Given the description of an element on the screen output the (x, y) to click on. 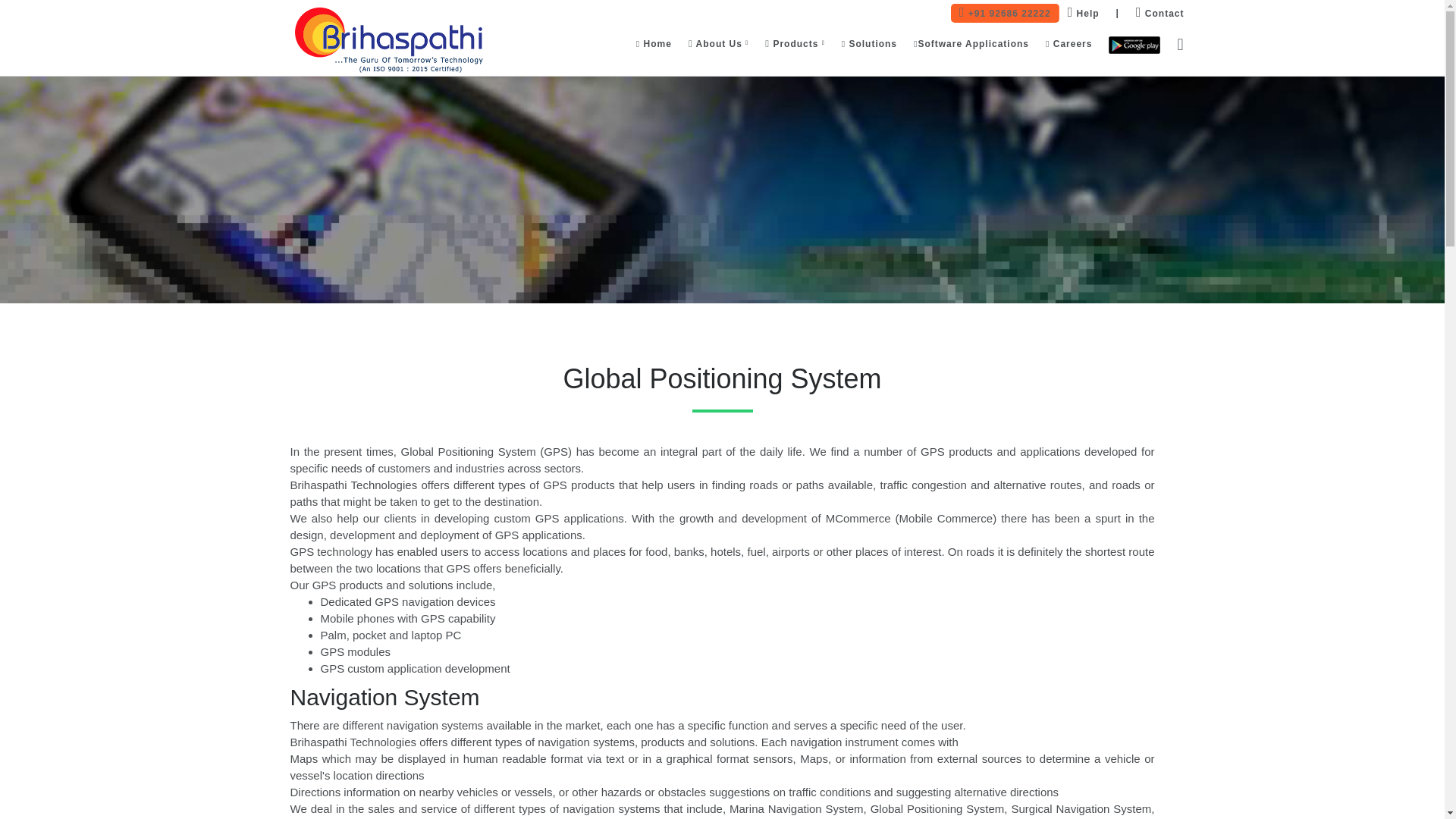
About Us (718, 43)
Products (794, 43)
Help (1083, 13)
Home (653, 43)
Contact (1159, 13)
